Given the description of an element on the screen output the (x, y) to click on. 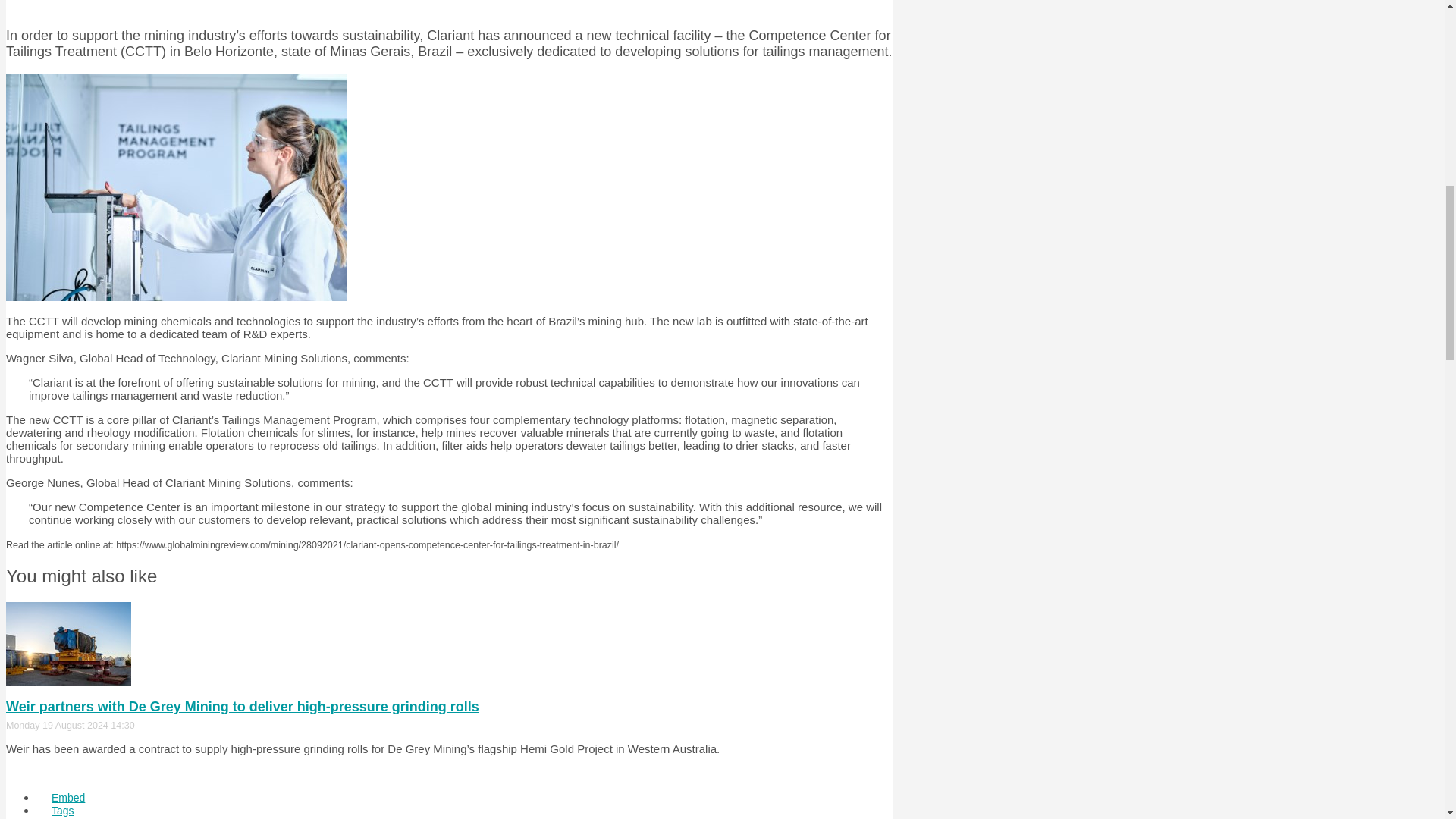
Tags (62, 807)
Embed (68, 797)
